Given the description of an element on the screen output the (x, y) to click on. 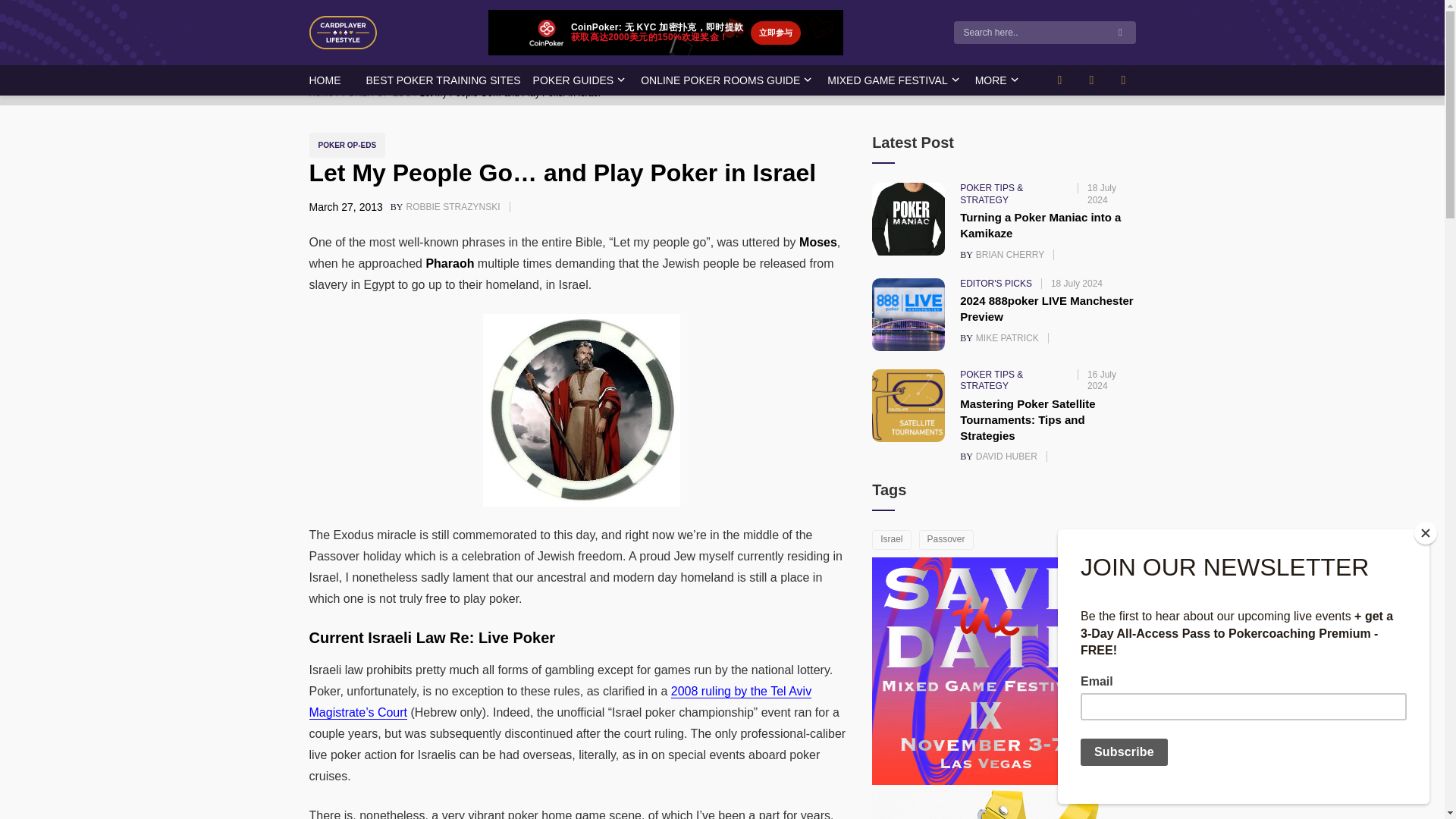
POKER GUIDES (573, 80)
BEST POKER TRAINING SITES (442, 80)
MORE (991, 80)
Home (325, 93)
HOME (324, 80)
MIXED GAME FESTIVAL (887, 80)
POKER OP-EDS (454, 206)
ONLINE POKER ROOMS GUIDE (381, 93)
